Given the description of an element on the screen output the (x, y) to click on. 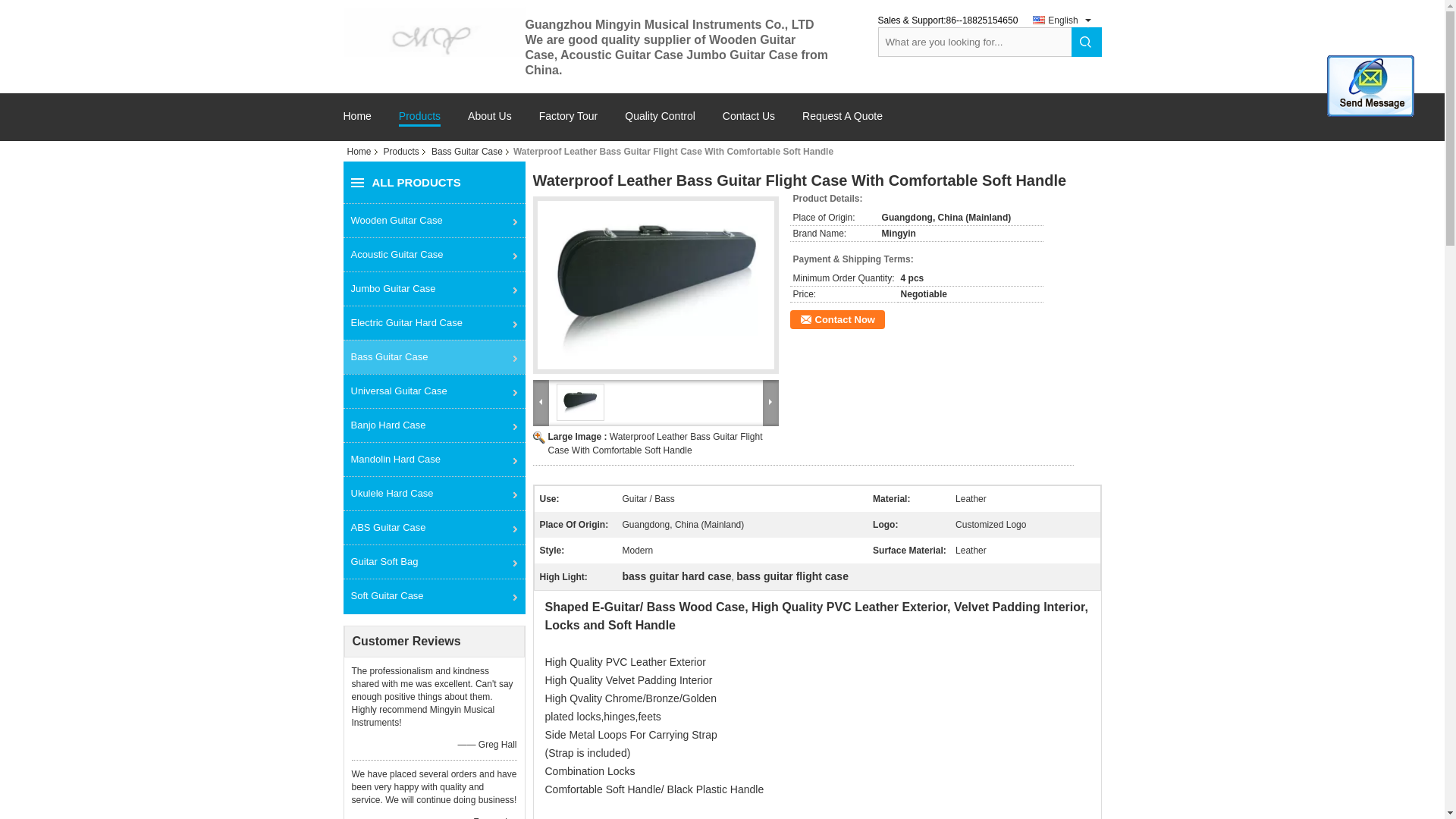
Factory Tour (568, 124)
Guangzhou Mingyin Musical Instruments Co., LTD (433, 31)
Electric Guitar Hard Case (433, 322)
Quality Control (659, 124)
Bass Guitar Case (433, 356)
About Us (489, 124)
Products (419, 118)
Contact Us (748, 124)
Universal Guitar Case (433, 390)
Banjo Hard Case (433, 424)
Home (362, 151)
Jumbo Guitar Case (433, 288)
Products (401, 151)
Home (356, 124)
Request A Quote (842, 124)
